Given the description of an element on the screen output the (x, y) to click on. 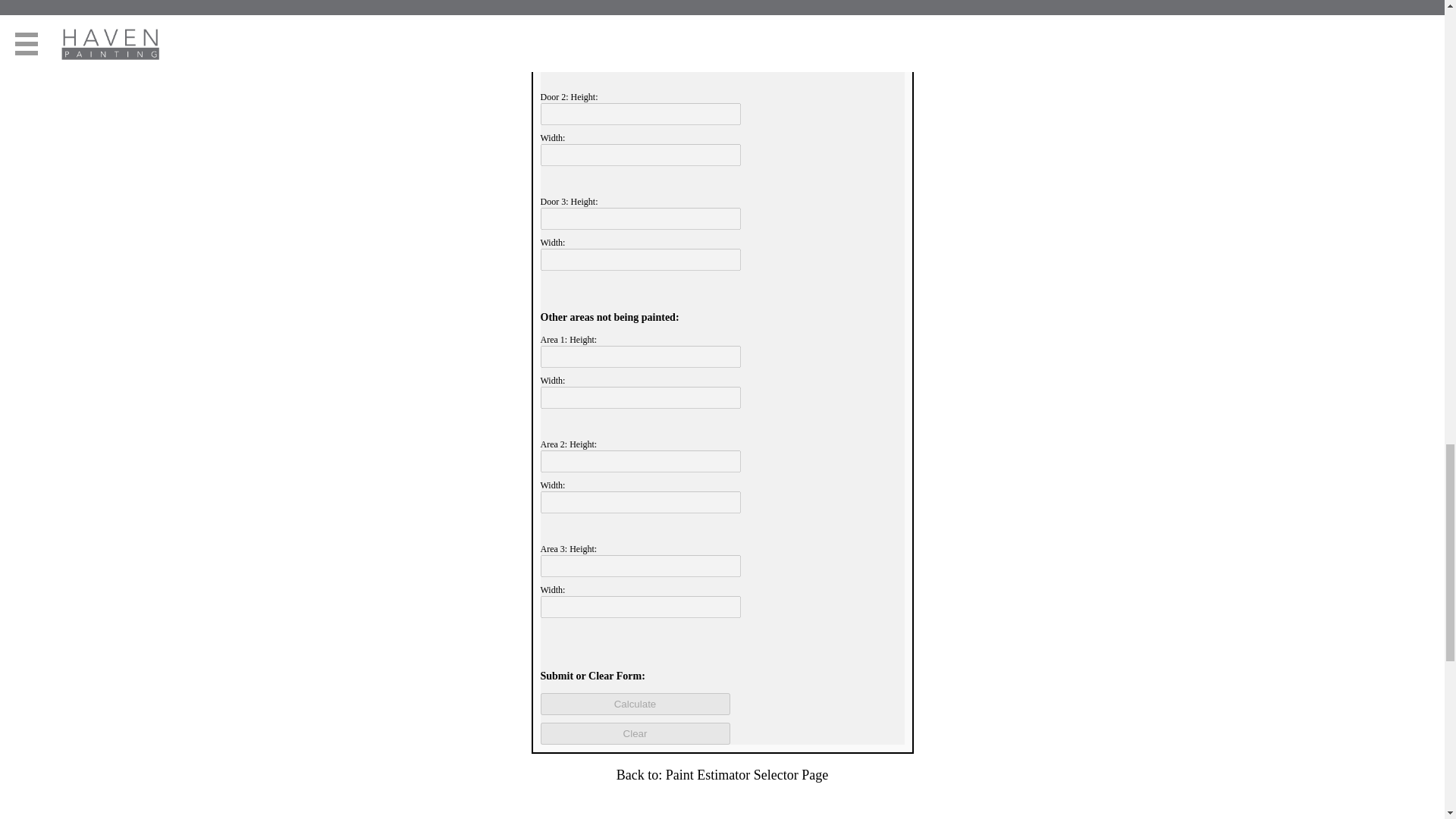
Paint Estimator Selector Page (745, 774)
Calculate (634, 703)
